Given the description of an element on the screen output the (x, y) to click on. 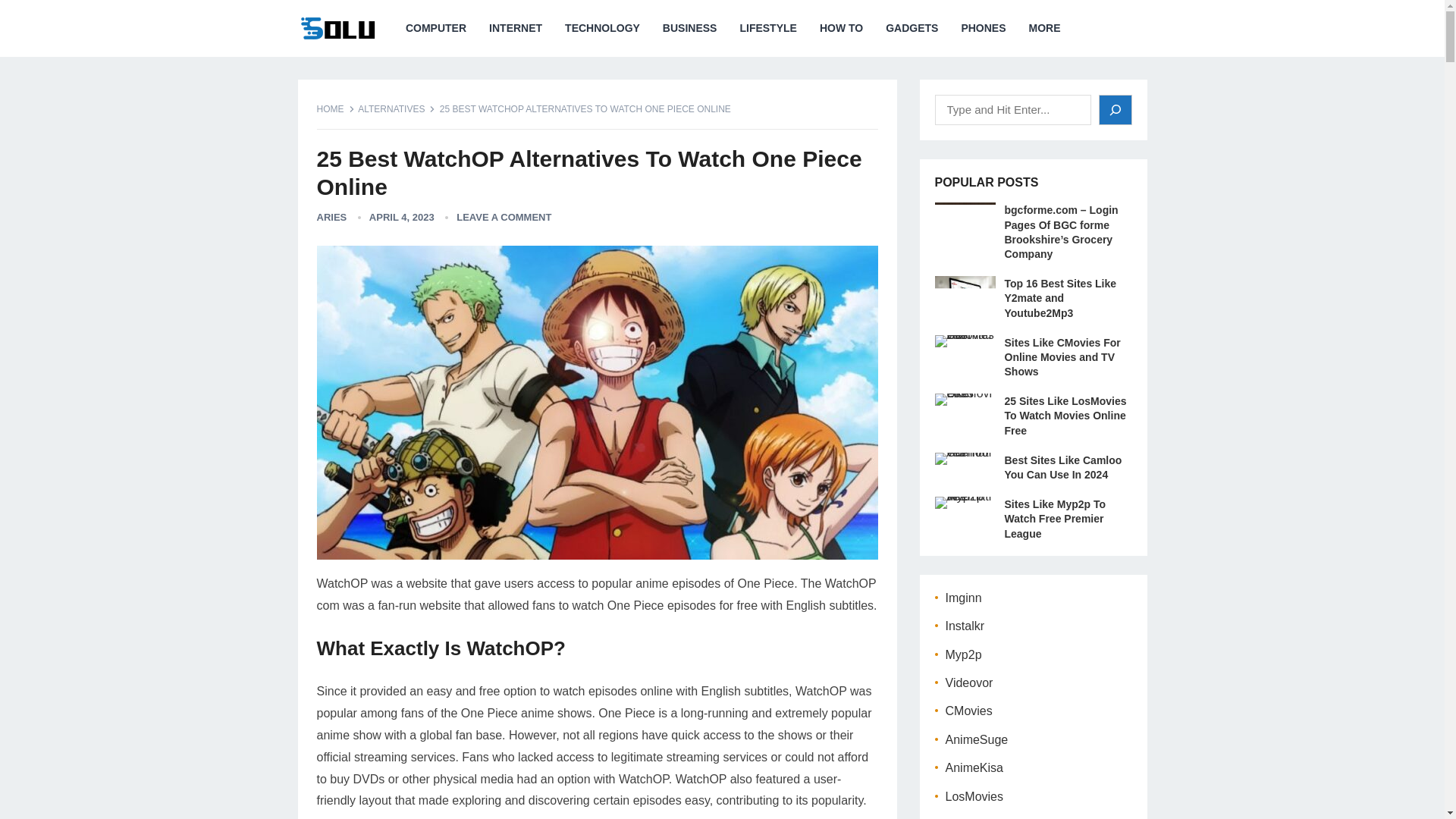
Posts by Aries (332, 216)
PHONES (982, 28)
ALTERNATIVES (396, 109)
HOW TO (841, 28)
LEAVE A COMMENT (504, 216)
MORE (1044, 28)
View all posts in Alternatives (396, 109)
ARIES (332, 216)
TECHNOLOGY (601, 28)
HOME (336, 109)
